Given the description of an element on the screen output the (x, y) to click on. 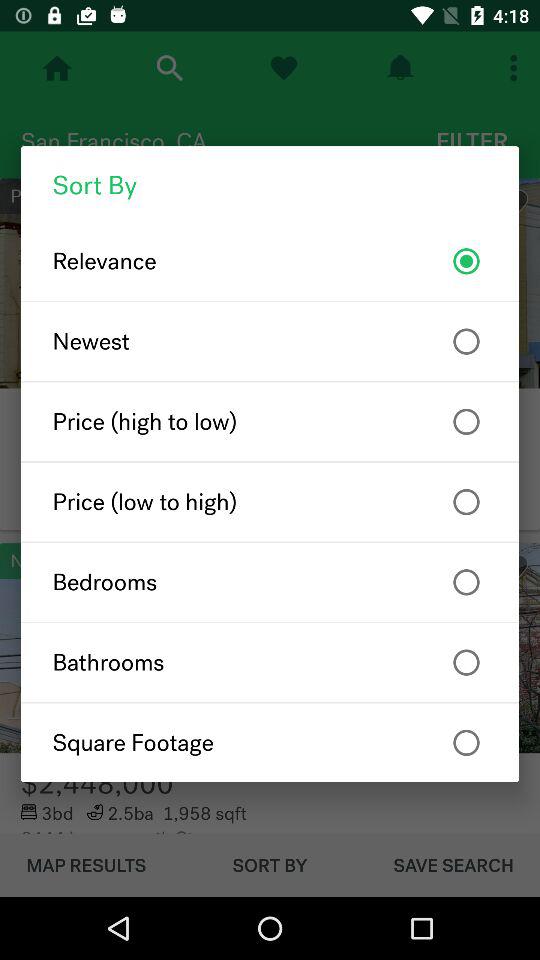
flip to the square footage item (270, 742)
